Given the description of an element on the screen output the (x, y) to click on. 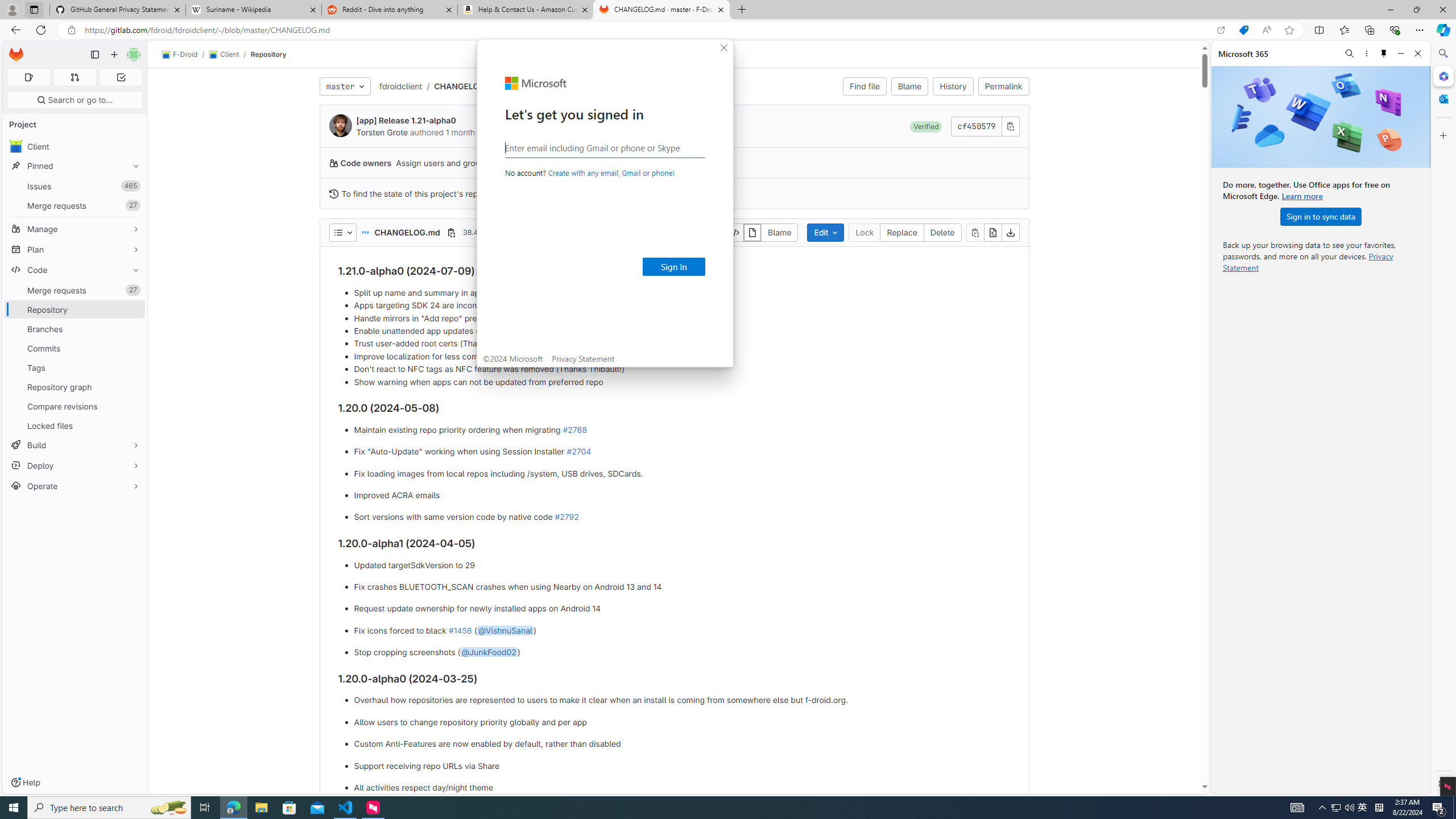
Code (74, 269)
Open in app (1220, 29)
Merge requests 27 (74, 289)
Verified (926, 126)
Issues465 (74, 185)
Copy file contents (974, 232)
Deploy (74, 465)
Torsten Grote's avatar (340, 125)
#1458 (459, 629)
Replace (901, 232)
